Given the description of an element on the screen output the (x, y) to click on. 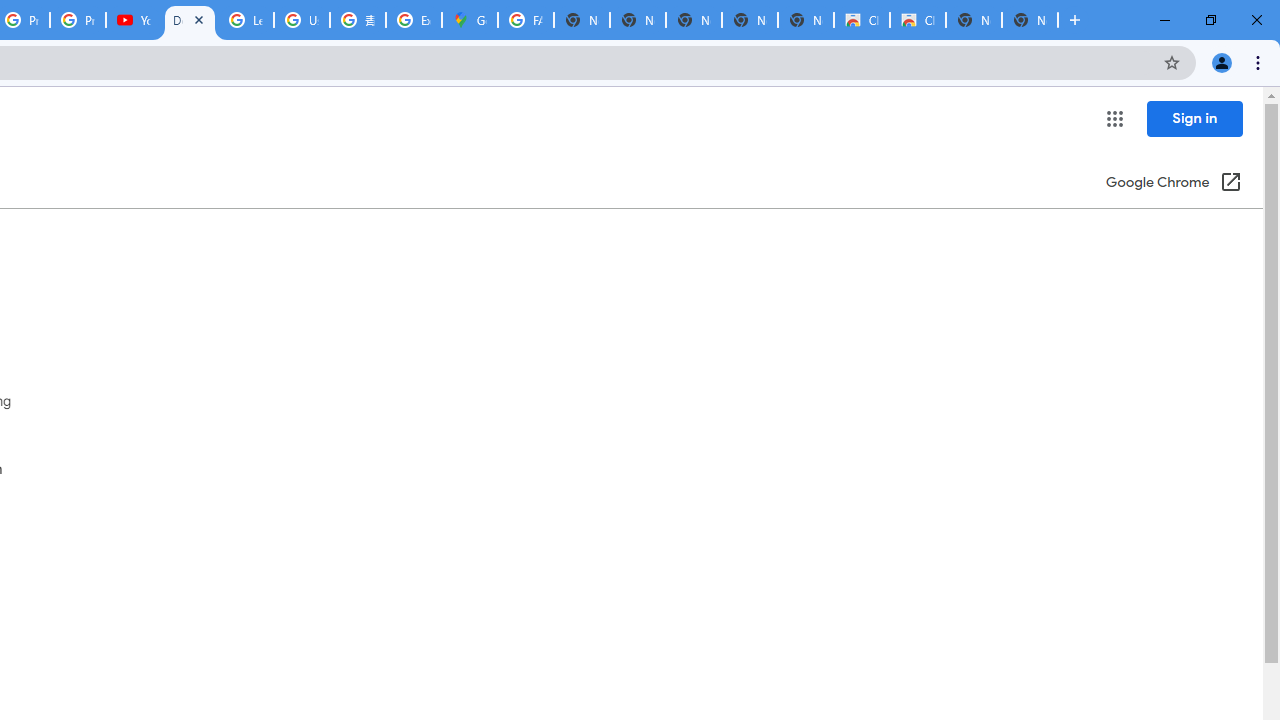
Classic Blue - Chrome Web Store (861, 20)
Classic Blue - Chrome Web Store (917, 20)
Explore new street-level details - Google Maps Help (413, 20)
Google Chrome (Open in a new window) (1173, 183)
